Given the description of an element on the screen output the (x, y) to click on. 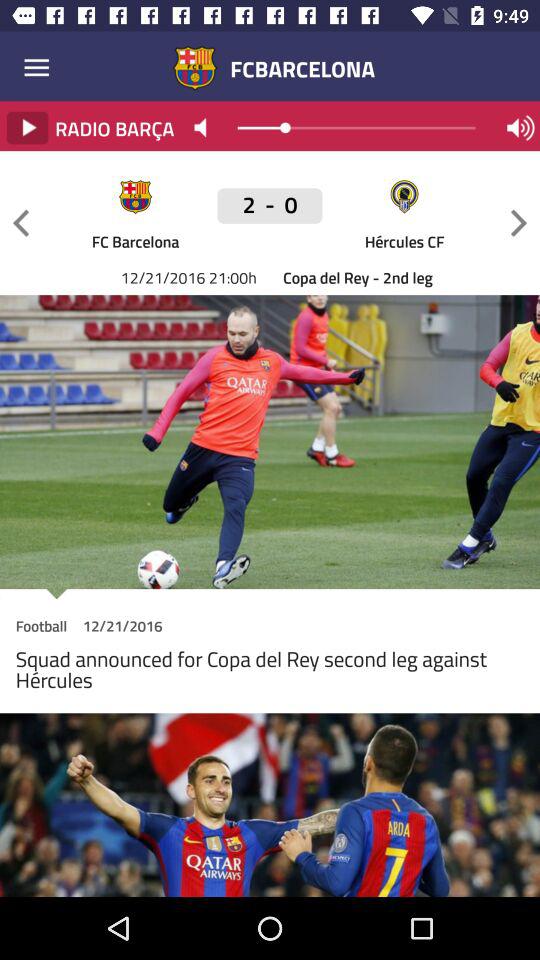
go forward (519, 222)
